Given the description of an element on the screen output the (x, y) to click on. 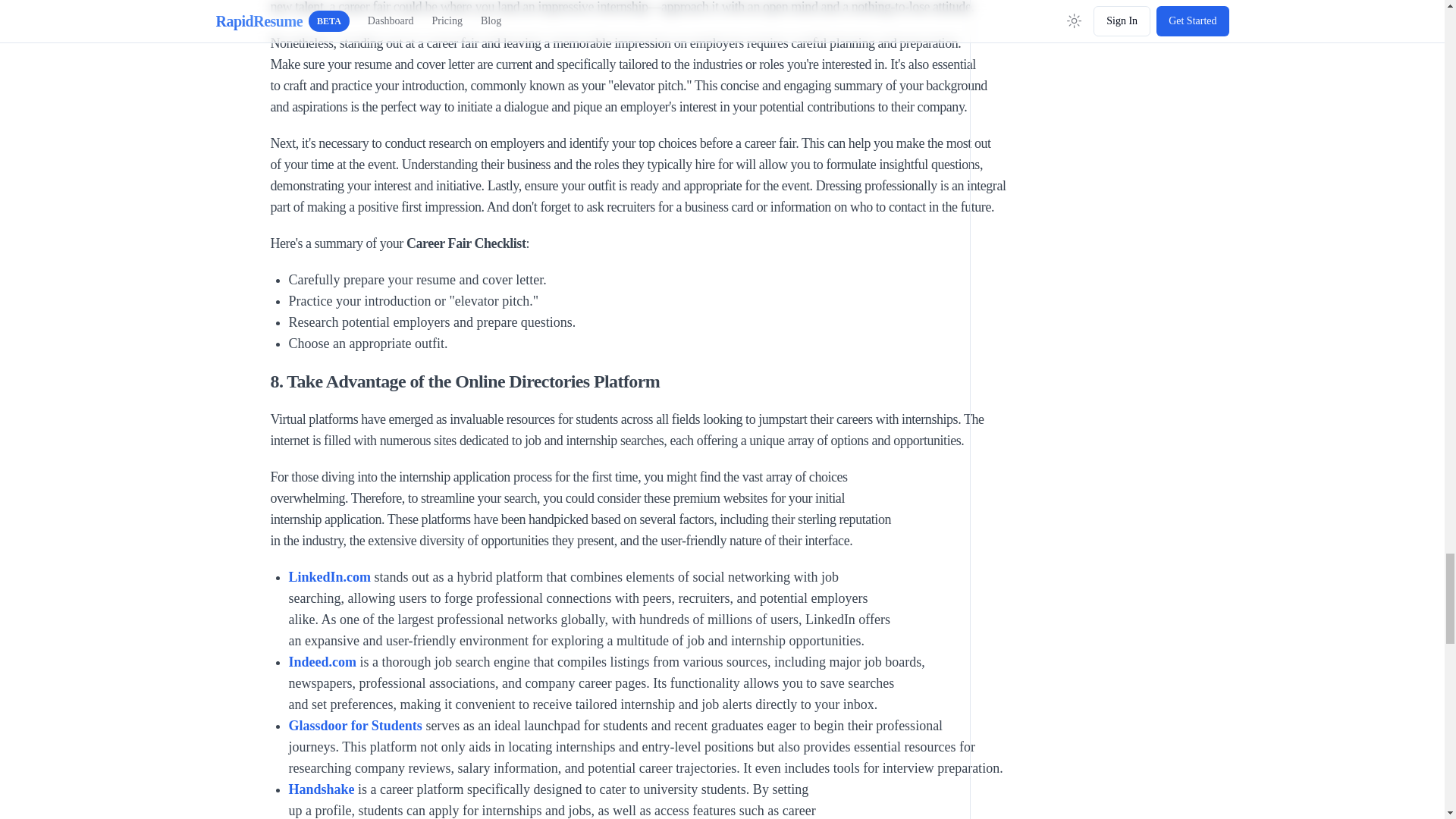
Indeed.com (322, 661)
8. Take Advantage of the Online Directories Platform (657, 381)
Glassdoor for Students (355, 725)
Handshake (320, 789)
LinkedIn.com (329, 576)
